Given the description of an element on the screen output the (x, y) to click on. 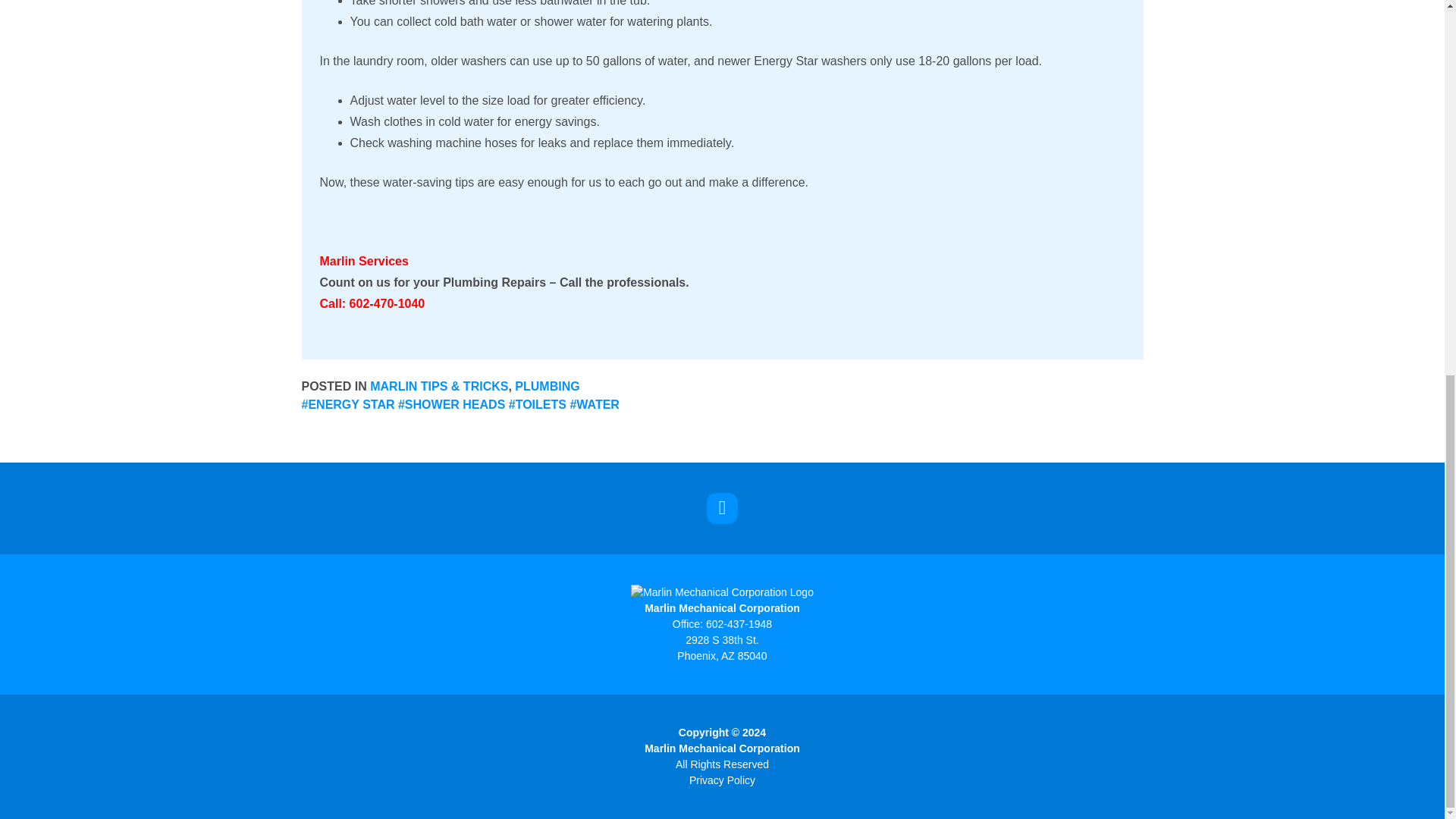
TOILETS (537, 404)
Like us on Facebook! (722, 508)
ENERGY STAR (722, 647)
WATER (347, 404)
PLUMBING (594, 404)
SHOWER HEADS (547, 386)
Privacy Policy (451, 404)
602-437-1948 (721, 779)
